Given the description of an element on the screen output the (x, y) to click on. 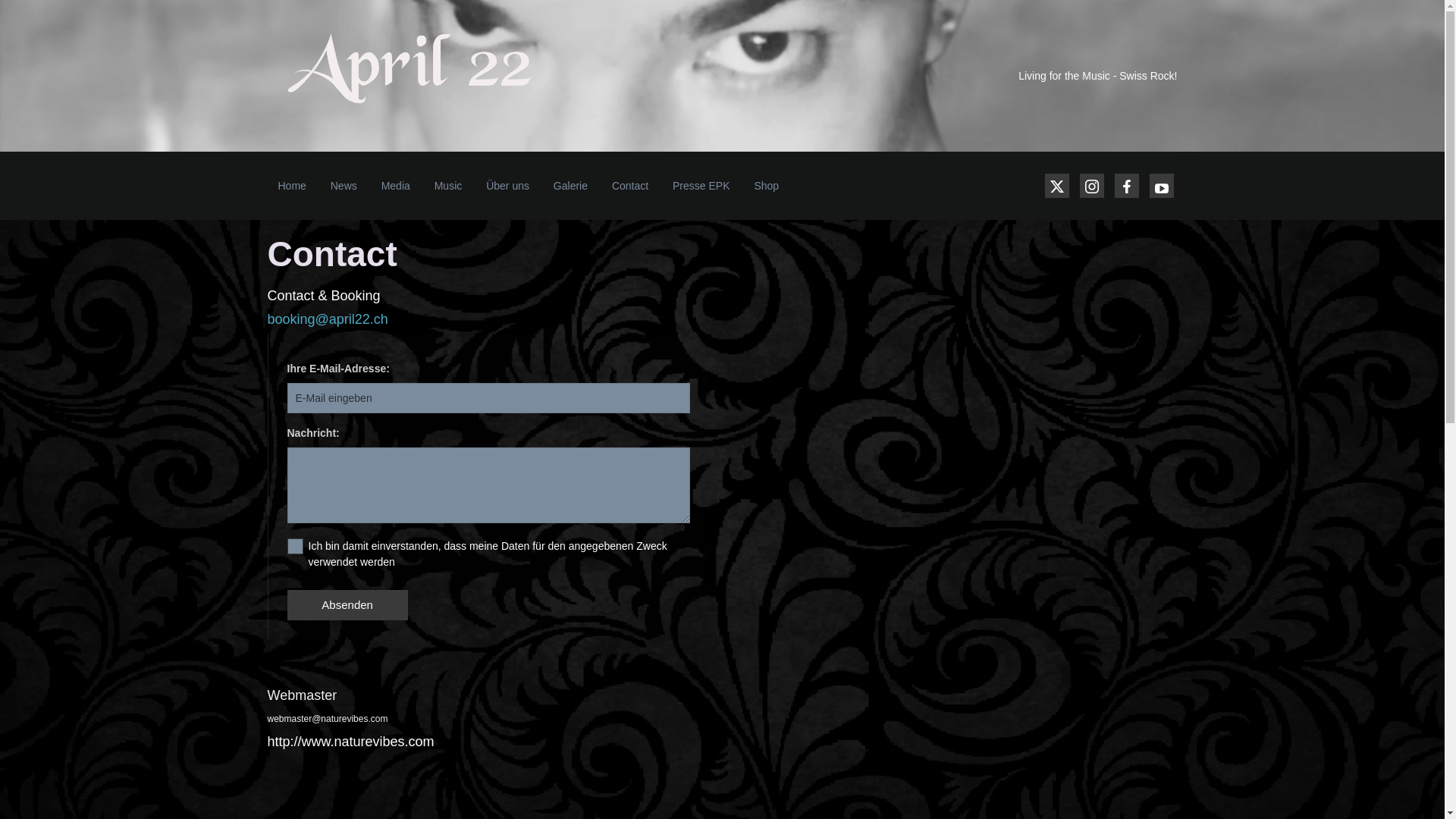
Shop Element type: text (766, 185)
Facebook Element type: text (1126, 185)
http://www.naturevibes.com Element type: text (349, 741)
Contact Element type: text (629, 185)
Twitter Element type: text (1056, 185)
Presse EPK Element type: text (701, 185)
Media Element type: text (395, 185)
Music Element type: text (448, 185)
Youtube Element type: text (1161, 185)
Instagram Element type: text (1091, 185)
Galerie Element type: text (570, 185)
Home Element type: text (291, 185)
Absenden Element type: text (346, 604)
News Element type: text (343, 185)
